Given the description of an element on the screen output the (x, y) to click on. 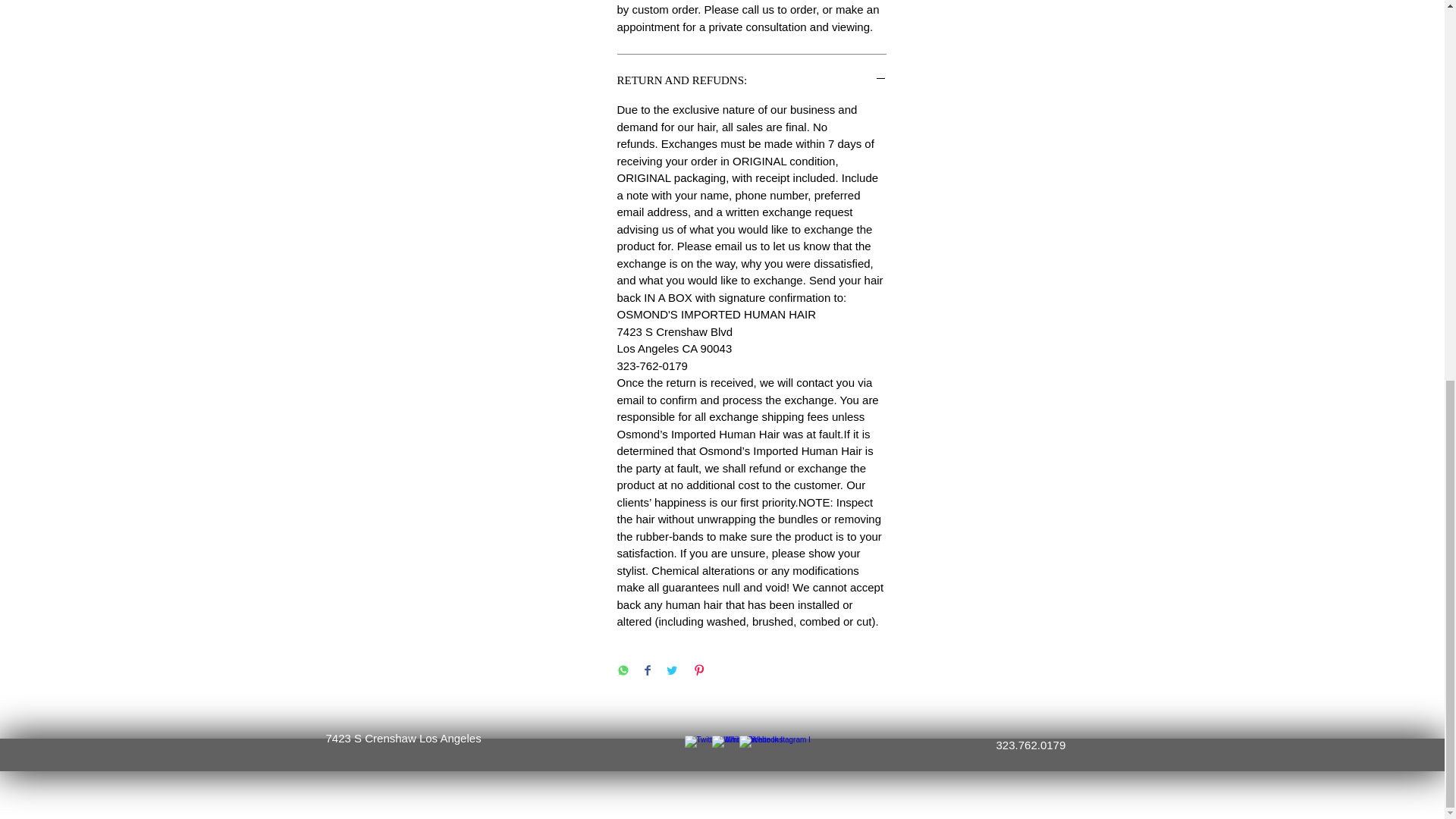
RETURN AND REFUDNS: (751, 80)
